Given the description of an element on the screen output the (x, y) to click on. 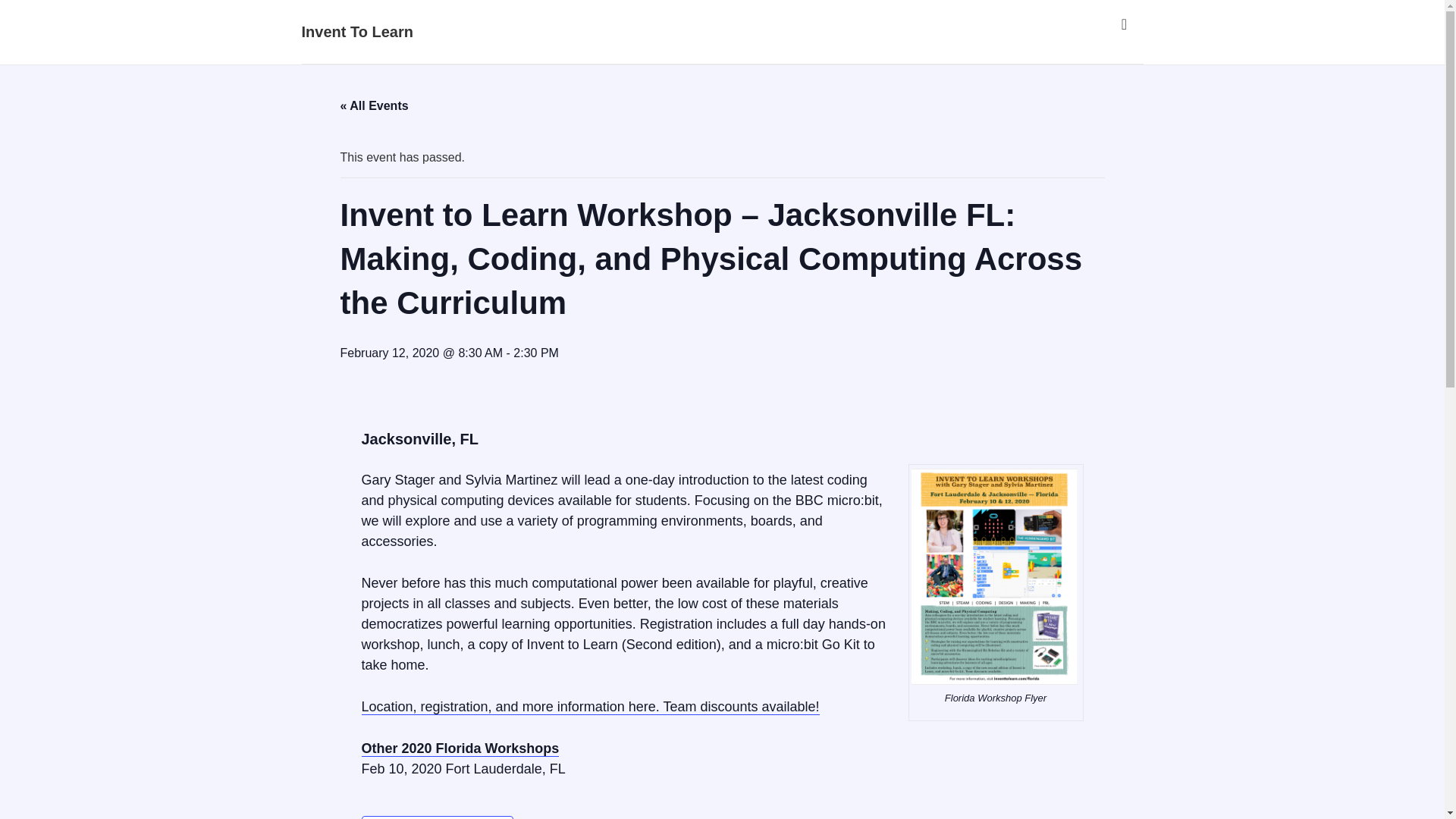
Other 2020 Florida Workshops (460, 748)
Invent To Learn (357, 31)
MENU (1123, 24)
